Given the description of an element on the screen output the (x, y) to click on. 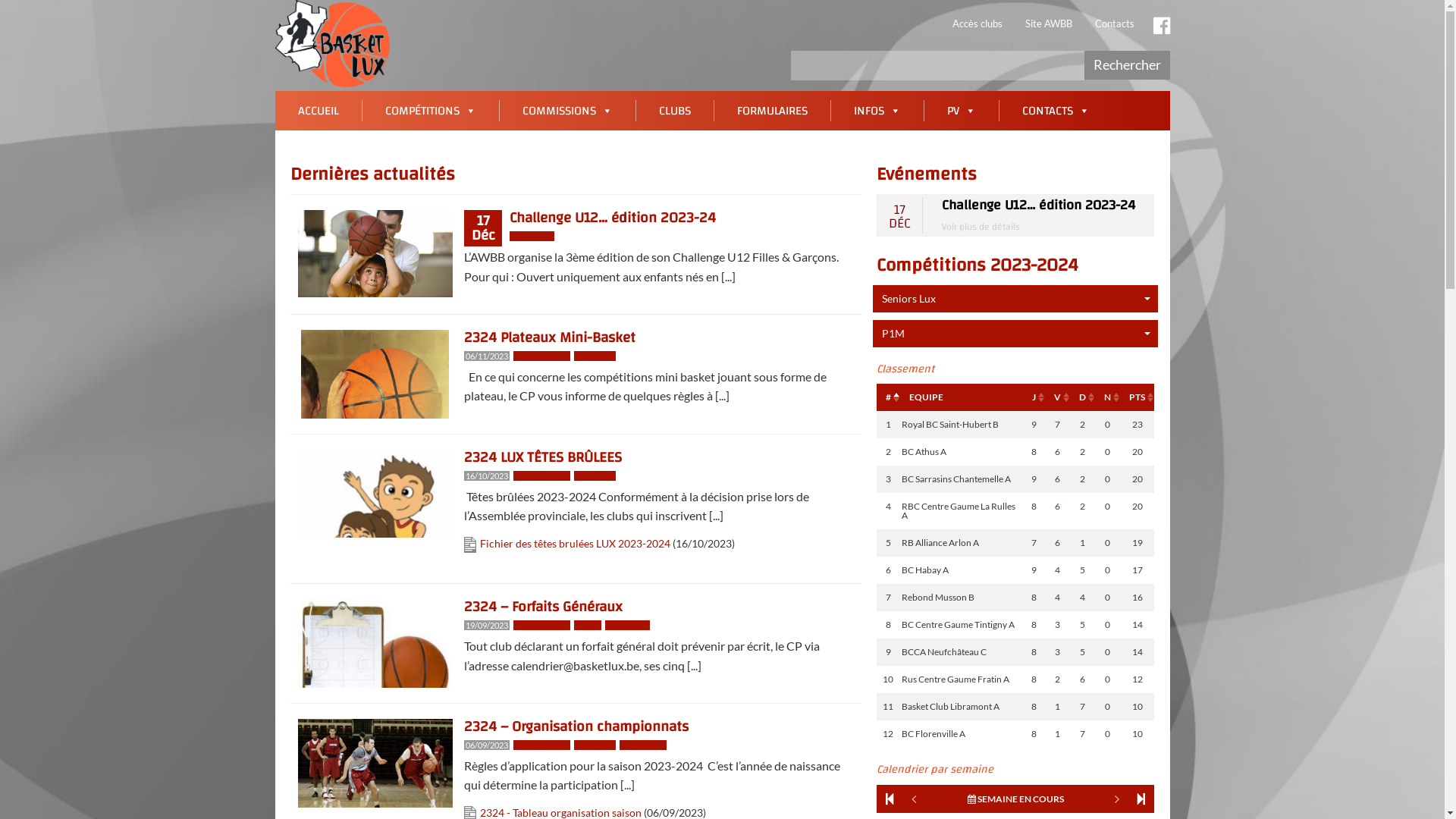
Site AWBB Element type: text (1047, 23)
Championnats Element type: text (541, 355)
CLUBS Element type: text (674, 110)
Consignes Element type: text (594, 744)
2324 Plateaux Mini-Basket Element type: text (549, 337)
Rechercher Element type: text (1127, 64)
FORMULAIRES Element type: text (771, 110)
PV Element type: text (960, 110)
Championnats Element type: text (541, 475)
SEMAINE EN COURS Element type: text (1015, 798)
Documents Element type: text (627, 625)
Contacts Element type: text (1113, 23)
Divers Element type: text (587, 625)
COMMISSIONS Element type: text (566, 110)
Championnats Element type: text (541, 744)
P1M Element type: text (1015, 333)
Logo Element type: hover (331, 43)
INFOS Element type: text (877, 110)
Seniors Lux Element type: text (1015, 298)
ACCUEIL Element type: text (317, 110)
Consignes Element type: text (594, 355)
CONTACTS Element type: text (1055, 110)
Championnats Element type: text (541, 625)
Consignes Element type: text (594, 475)
